Given the description of an element on the screen output the (x, y) to click on. 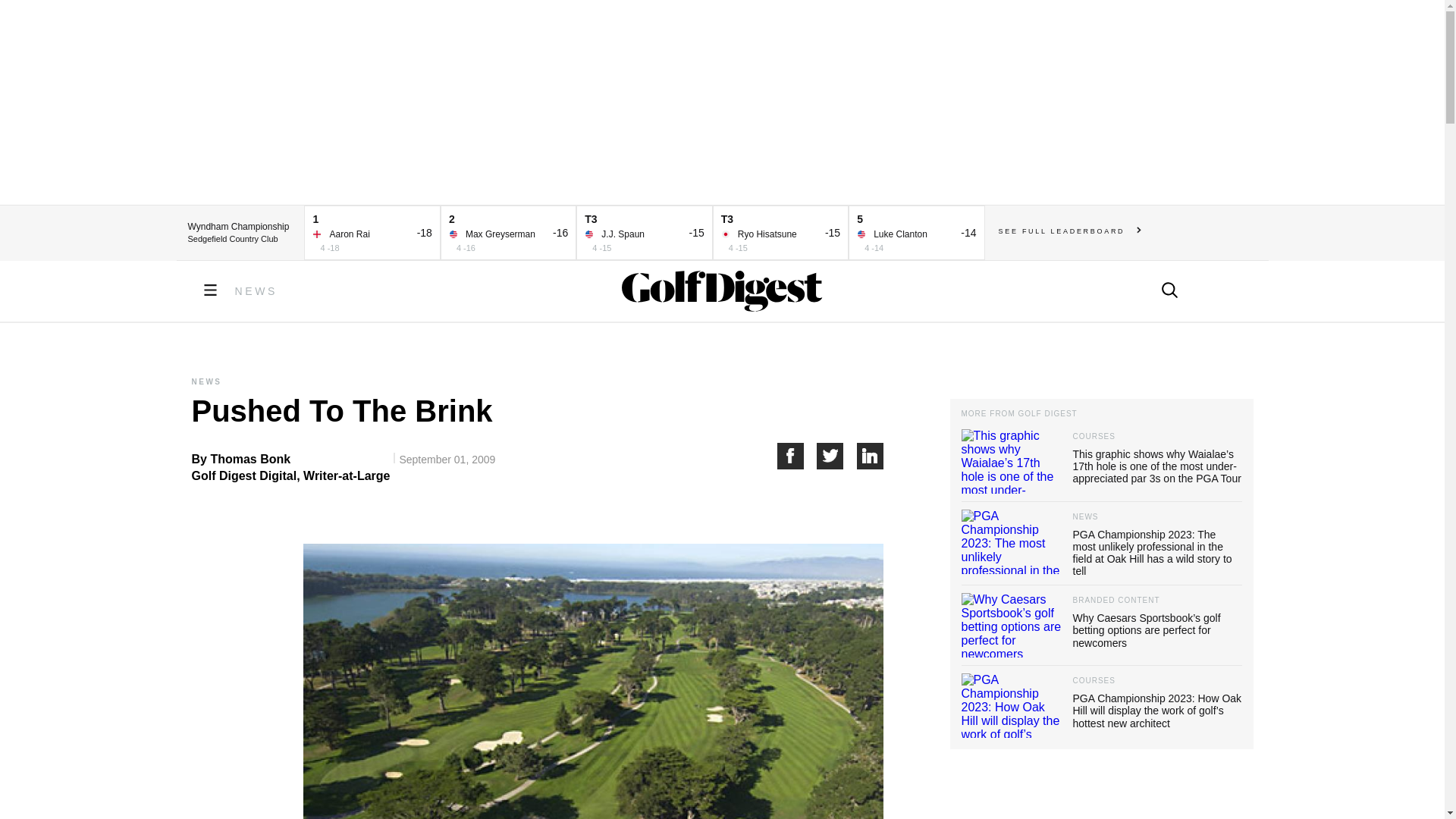
Share on Twitter (836, 456)
Share on Facebook (796, 456)
NEWS (256, 291)
Share on LinkedIn (870, 456)
SEE FULL LEADERBOARD (1069, 230)
